Given the description of an element on the screen output the (x, y) to click on. 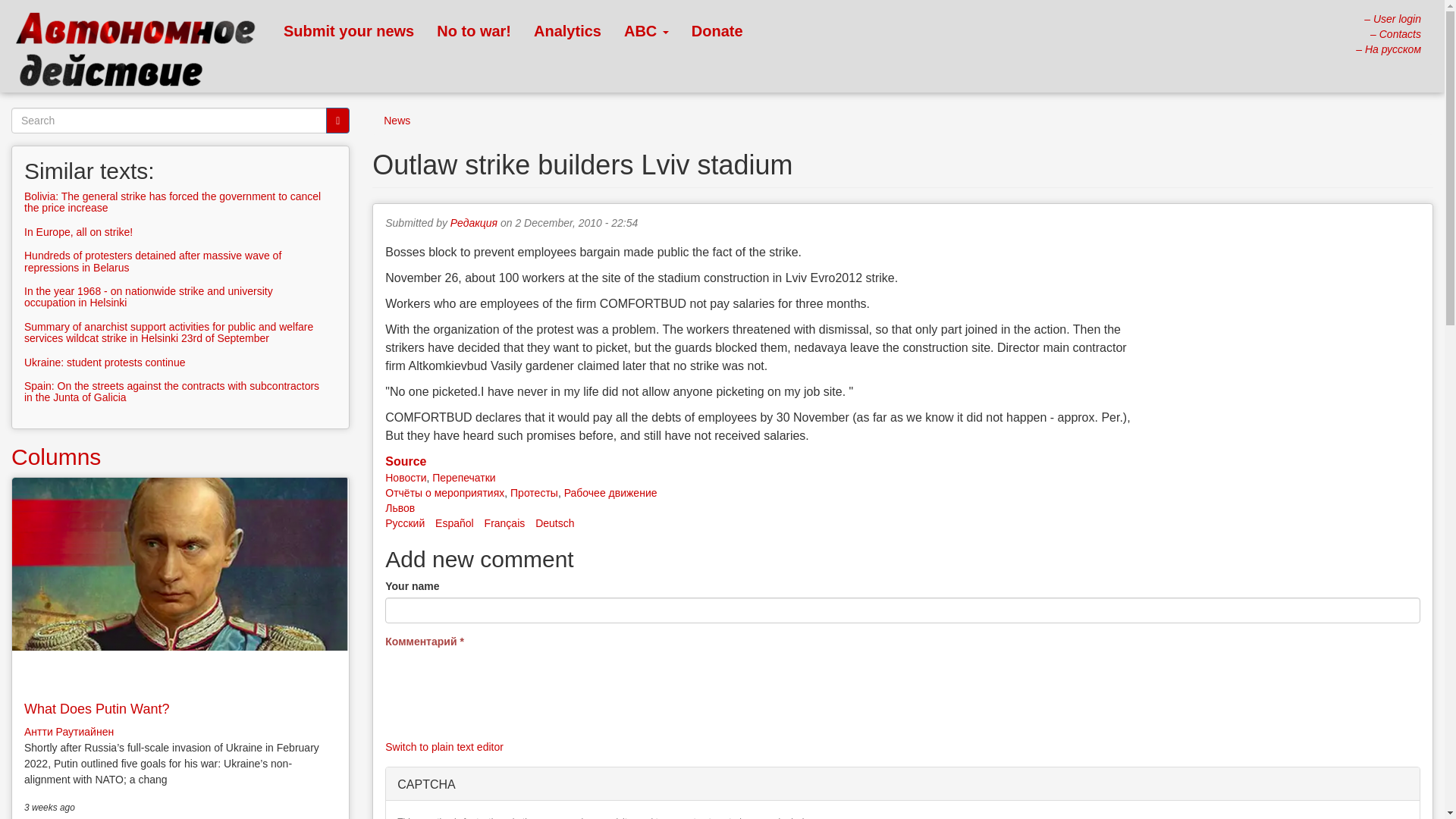
Anti-war leaflets and stickers (473, 30)
Contact us! (1395, 33)
ABC (645, 30)
Donate (716, 30)
Switch to plain text editor (444, 746)
huelga Outlaw constructores Lviv estadio (454, 522)
Analytics (567, 30)
Source (405, 461)
Submit your news (348, 30)
